Given the description of an element on the screen output the (x, y) to click on. 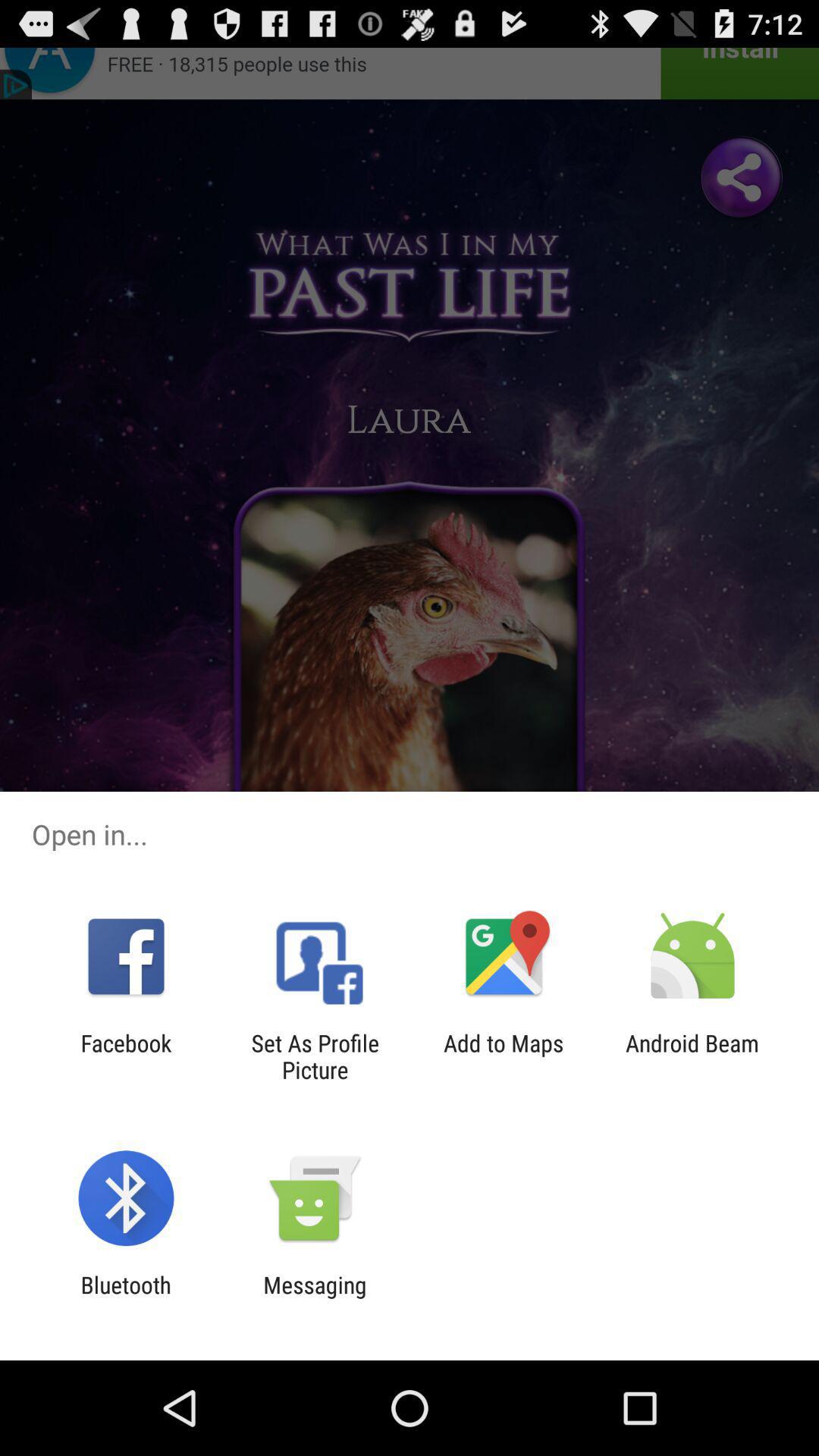
tap the android beam item (692, 1056)
